Given the description of an element on the screen output the (x, y) to click on. 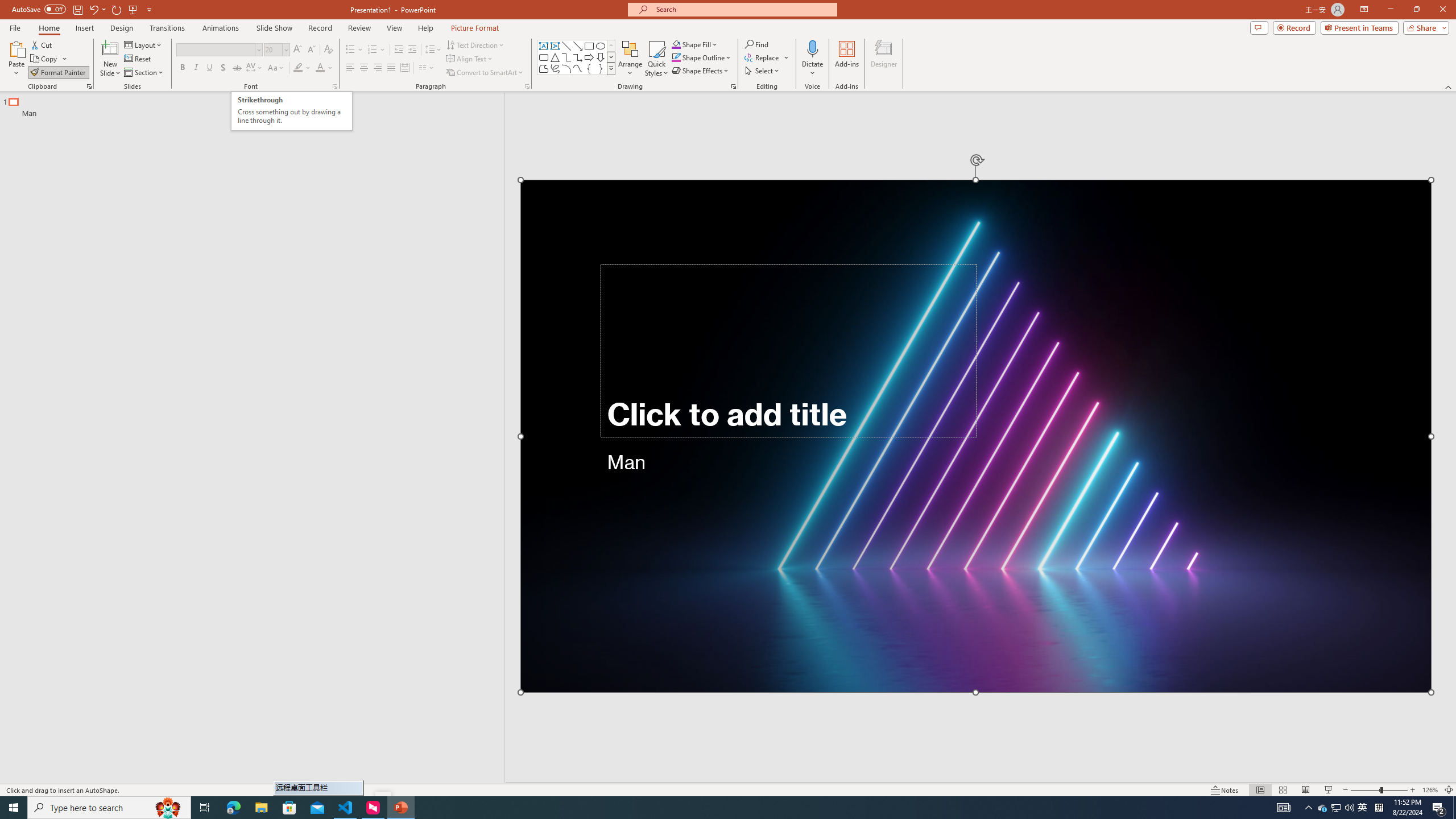
Outline (256, 104)
